Given the description of an element on the screen output the (x, y) to click on. 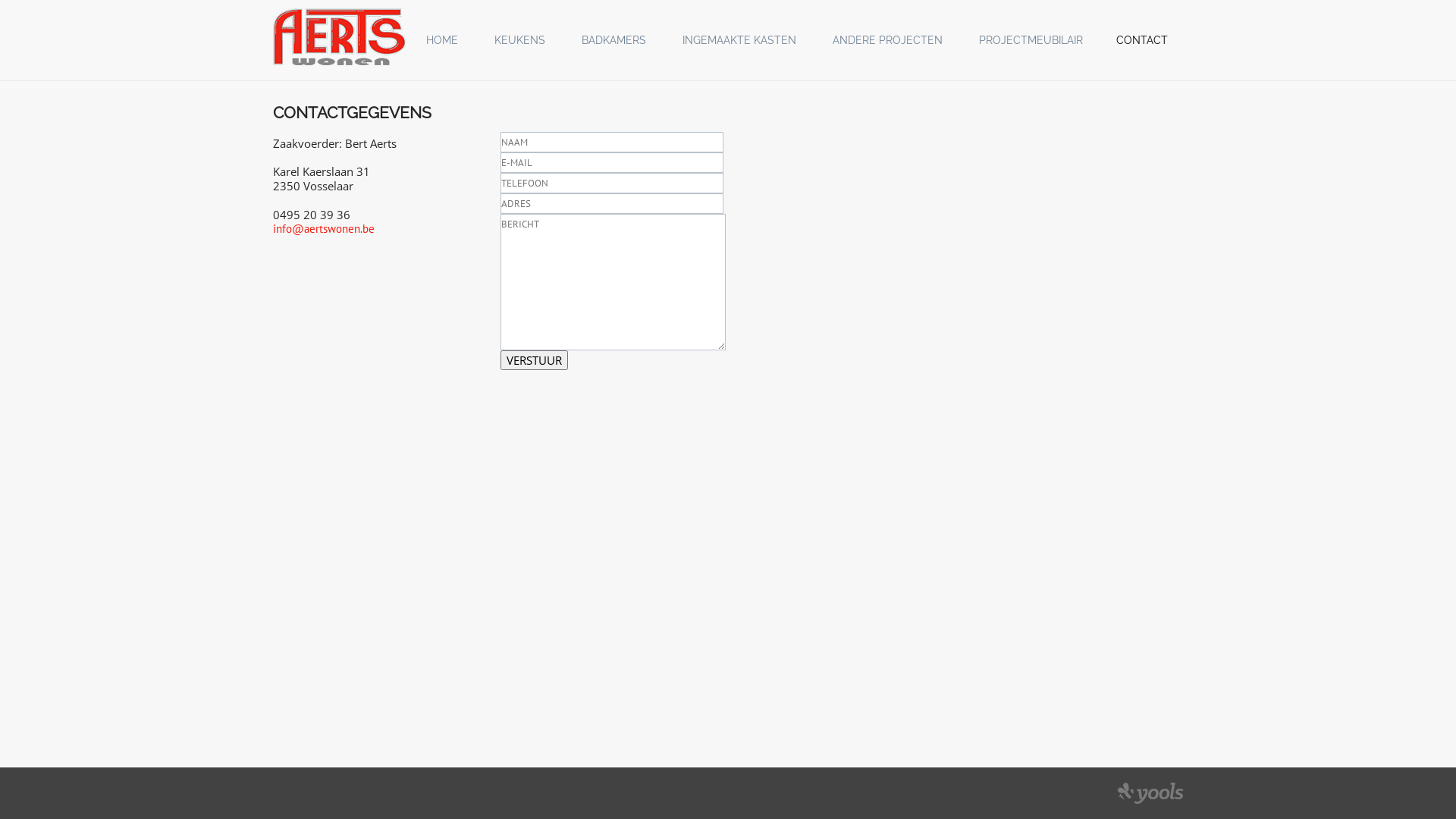
BADKAMERS Element type: text (613, 40)
HOME Element type: text (441, 40)
PROJECTMEUBILAIR Element type: text (1030, 40)
Verstuur Element type: text (533, 360)
CONTACT Element type: text (1142, 40)
info@aertswonen.be Element type: text (323, 228)
INGEMAAKTE KASTEN Element type: text (739, 40)
KEUKENS Element type: text (519, 40)
ANDERE PROJECTEN Element type: text (887, 40)
Yools Website Design Element type: hover (1150, 792)
